Given the description of an element on the screen output the (x, y) to click on. 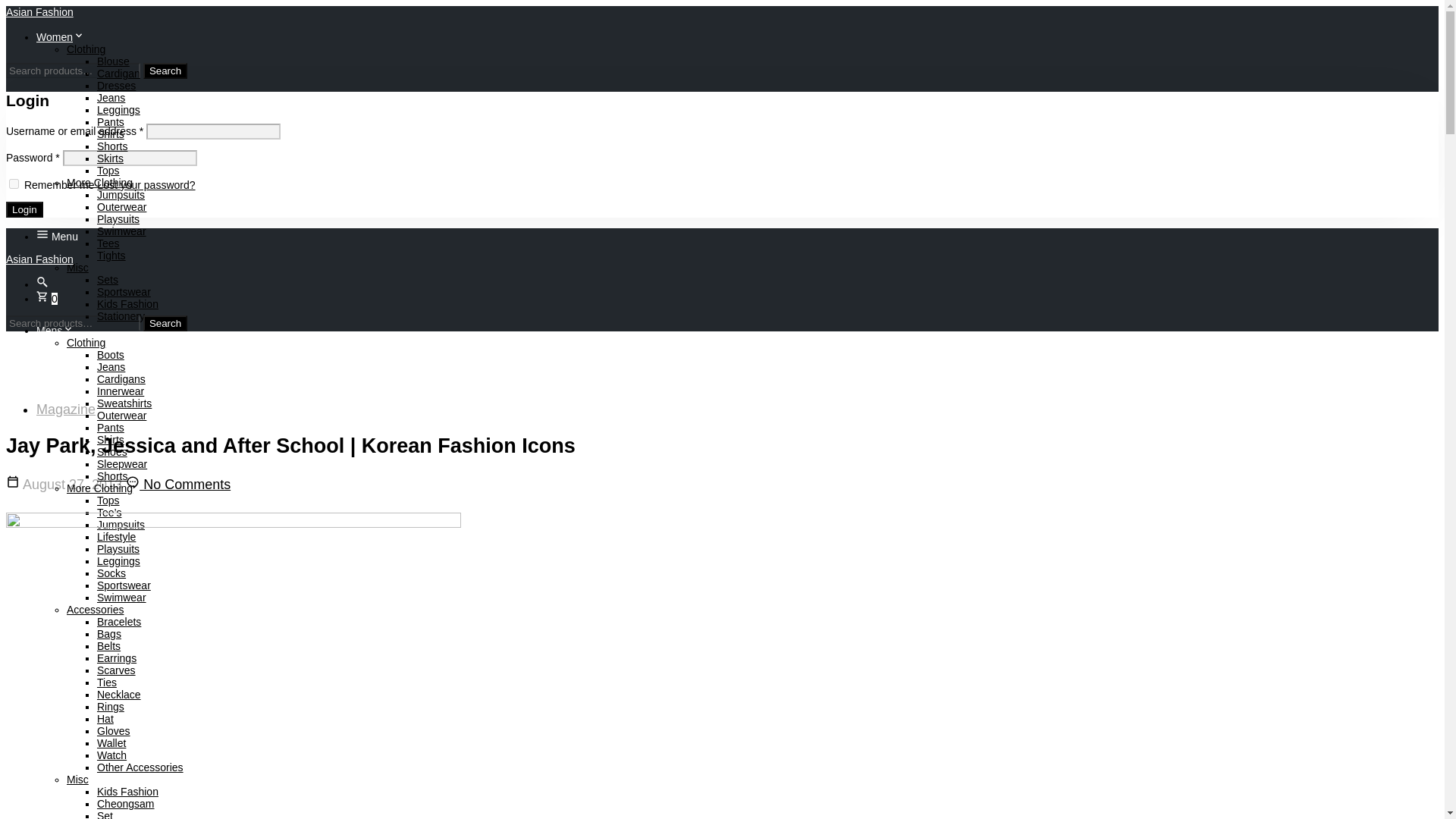
Shoes (112, 451)
Outerwear (122, 415)
Sweatshirts (124, 403)
Women (60, 37)
Asian Fashion (39, 11)
Shorts (112, 476)
Sportswear (124, 291)
Tops (108, 170)
Outerwear (122, 206)
Tights (111, 255)
Mens (55, 330)
Cardigans (121, 378)
Search (164, 323)
Shirts (110, 439)
Kids Fashion (127, 304)
